Given the description of an element on the screen output the (x, y) to click on. 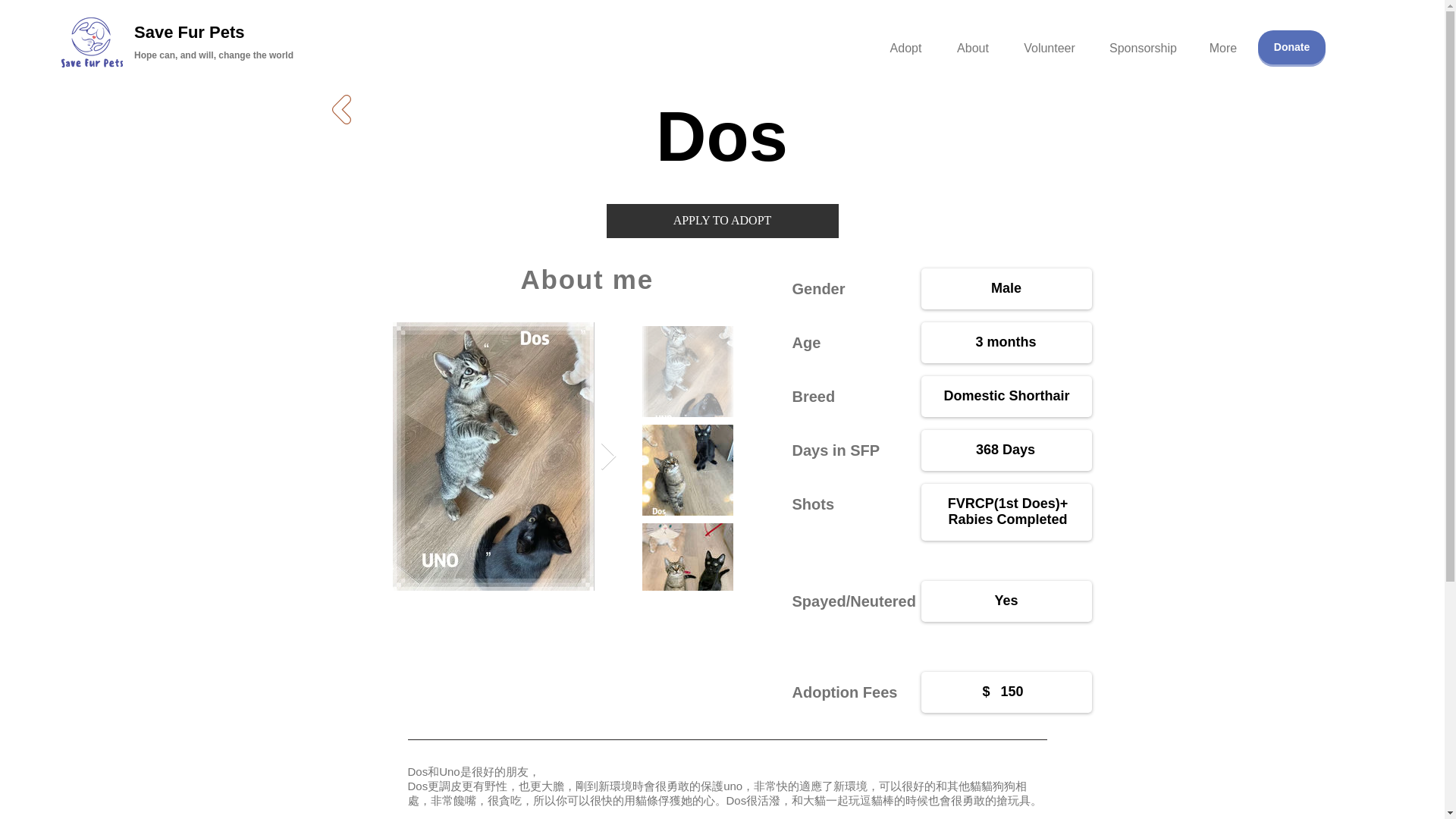
Save Fur Pets (188, 31)
Volunteer (1049, 41)
About (972, 41)
APPLY TO ADOPT (722, 220)
Adopt (905, 41)
Sponsorship (1143, 41)
Donate (1290, 47)
